Given the description of an element on the screen output the (x, y) to click on. 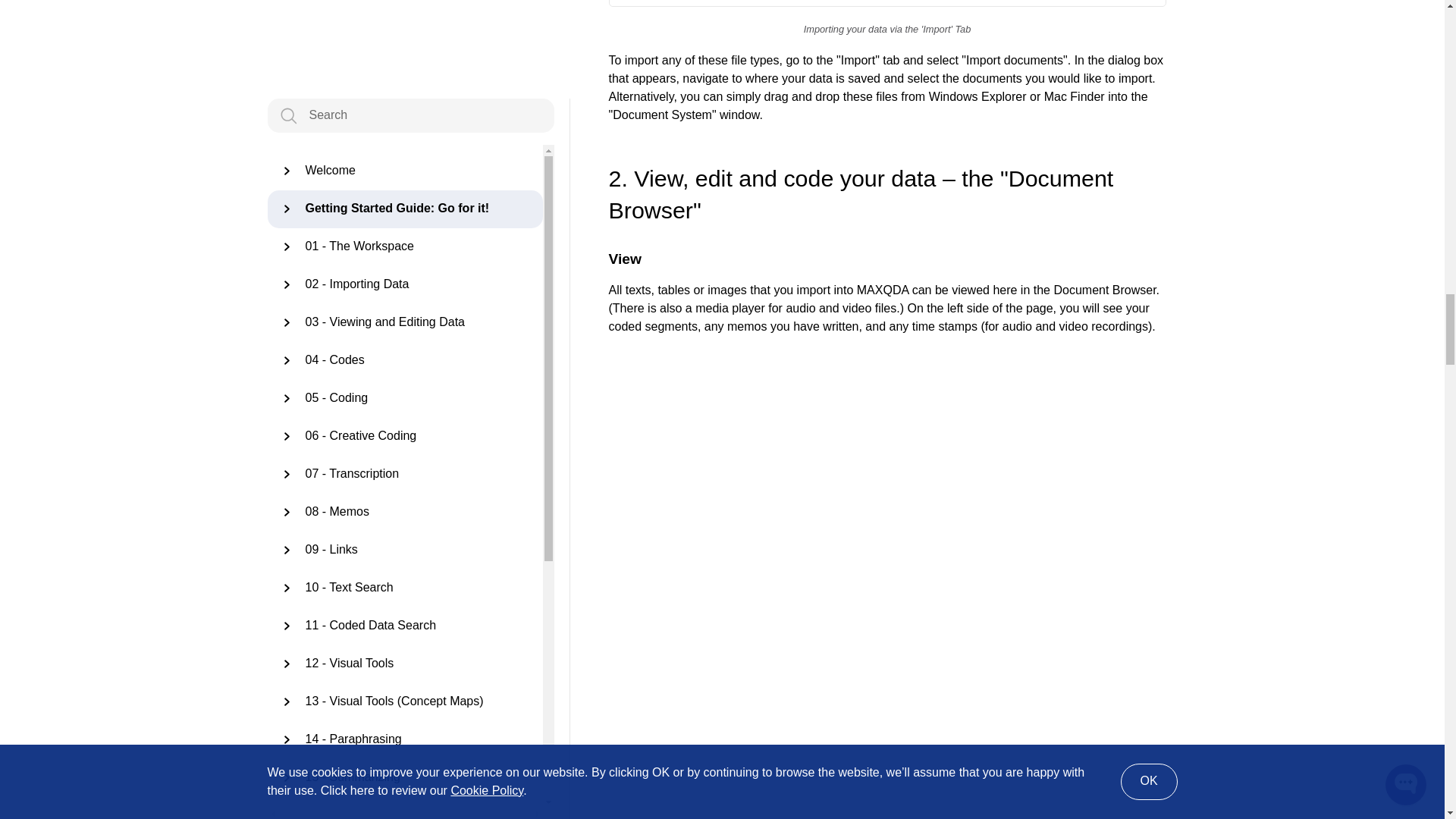
Importing your data via the 'Import' Tab (887, 3)
